Given the description of an element on the screen output the (x, y) to click on. 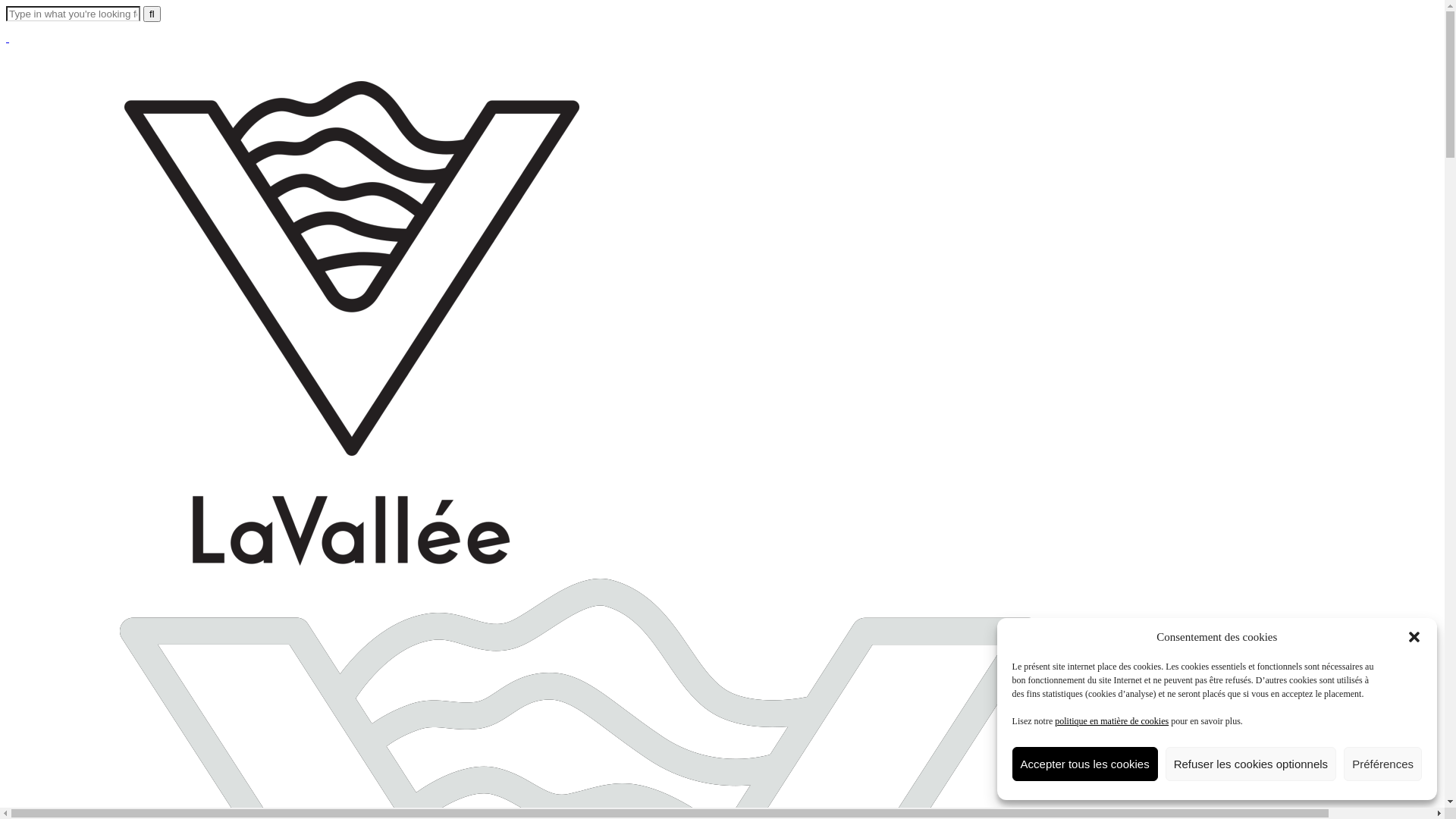
  Element type: text (7, 37)
Accepter tous les cookies Element type: text (1084, 763)
Refuser les cookies optionnels Element type: text (1250, 763)
